Given the description of an element on the screen output the (x, y) to click on. 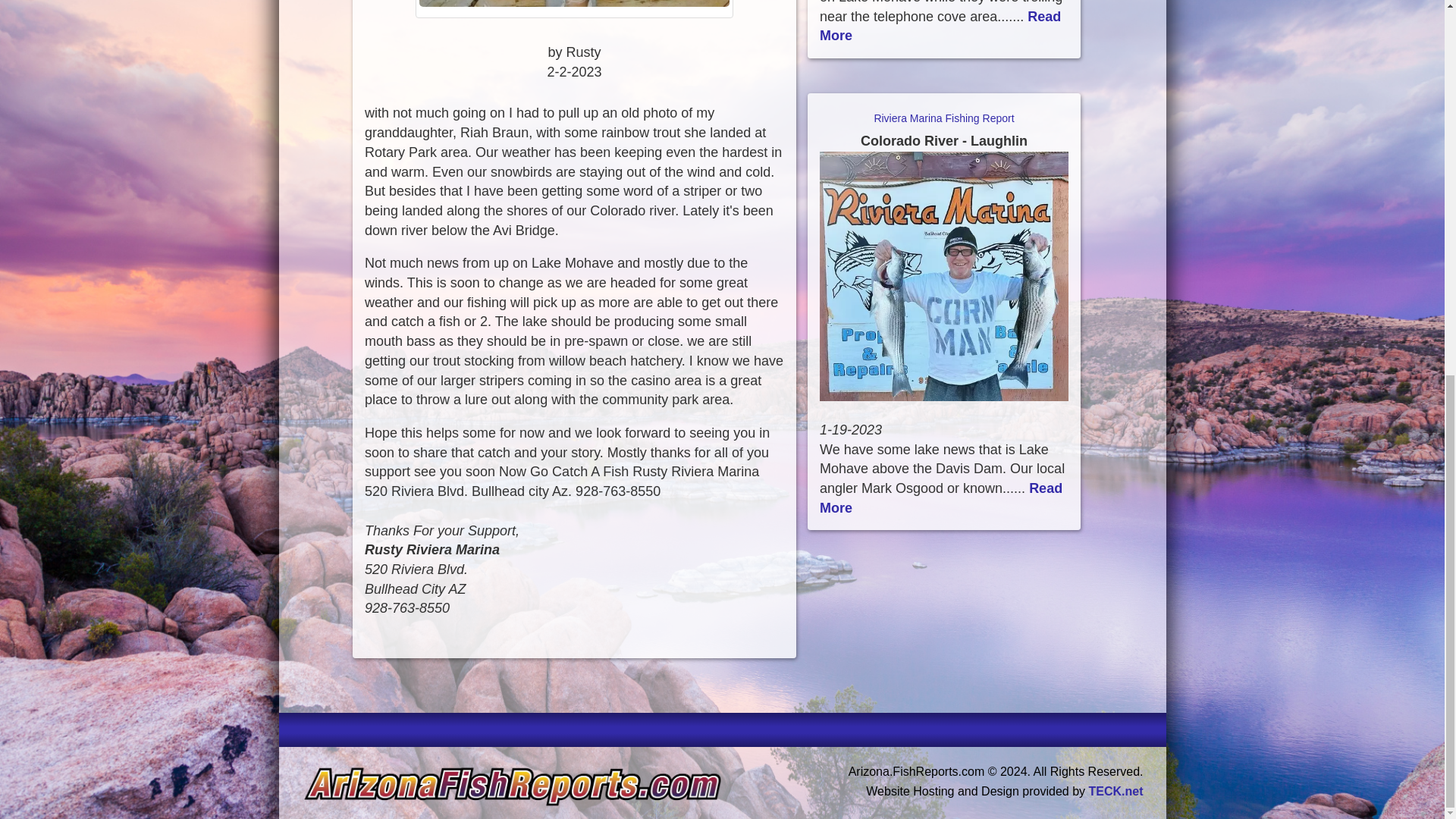
Read More (940, 497)
Read More (940, 26)
TECK.net (1115, 790)
Riviera Marina Fishing Report (943, 130)
